Given the description of an element on the screen output the (x, y) to click on. 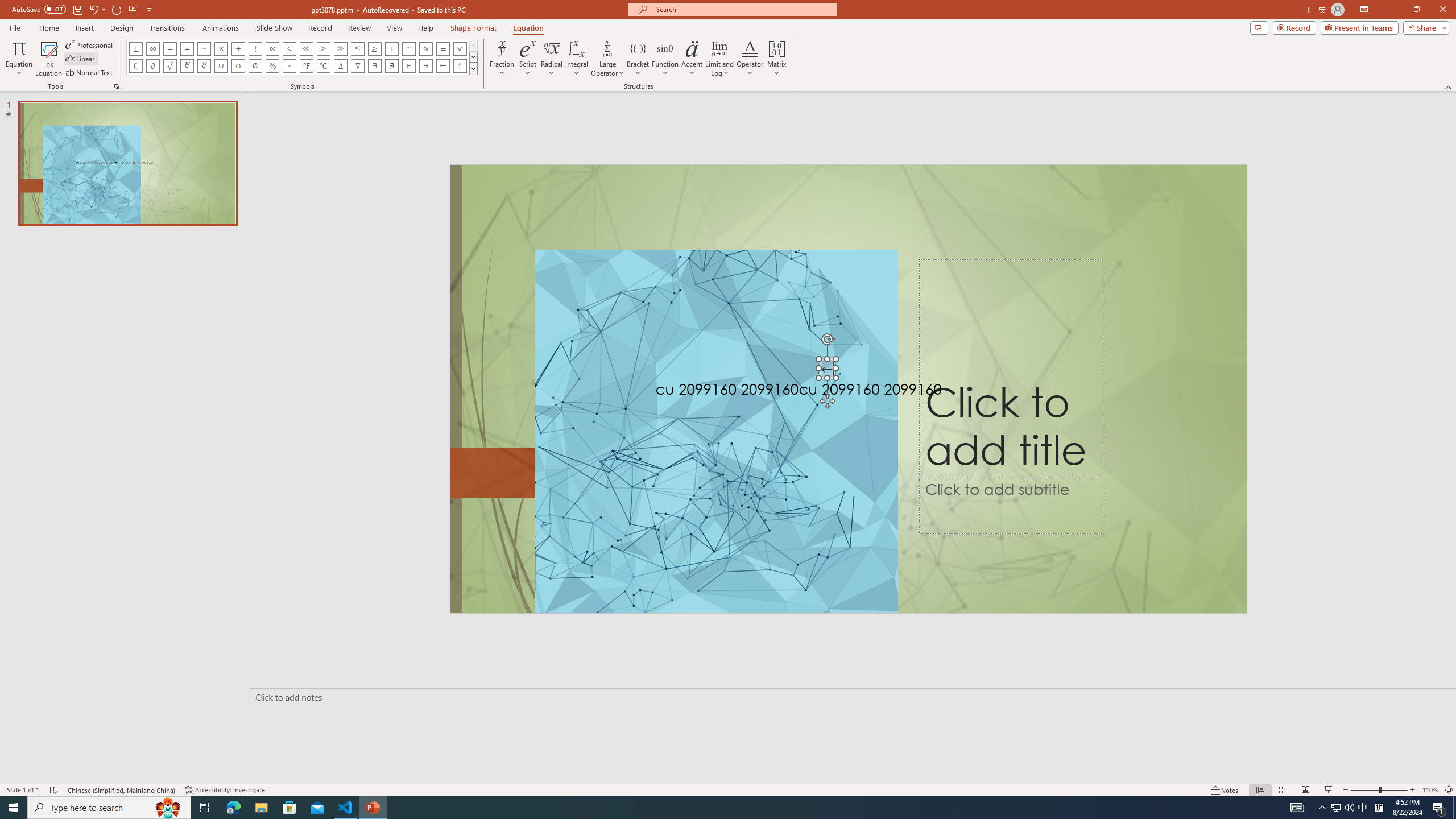
Equation Symbol Degrees Celsius (322, 65)
Equation Symbol Much Less Than (306, 48)
Equation Symbols (472, 68)
Professional (90, 44)
Equation Symbol Infinity (152, 48)
Equation Symbol Radical Sign (170, 65)
Equation Symbol Partial Differential (152, 65)
Integral (576, 58)
Zoom 110% (1430, 790)
